Given the description of an element on the screen output the (x, y) to click on. 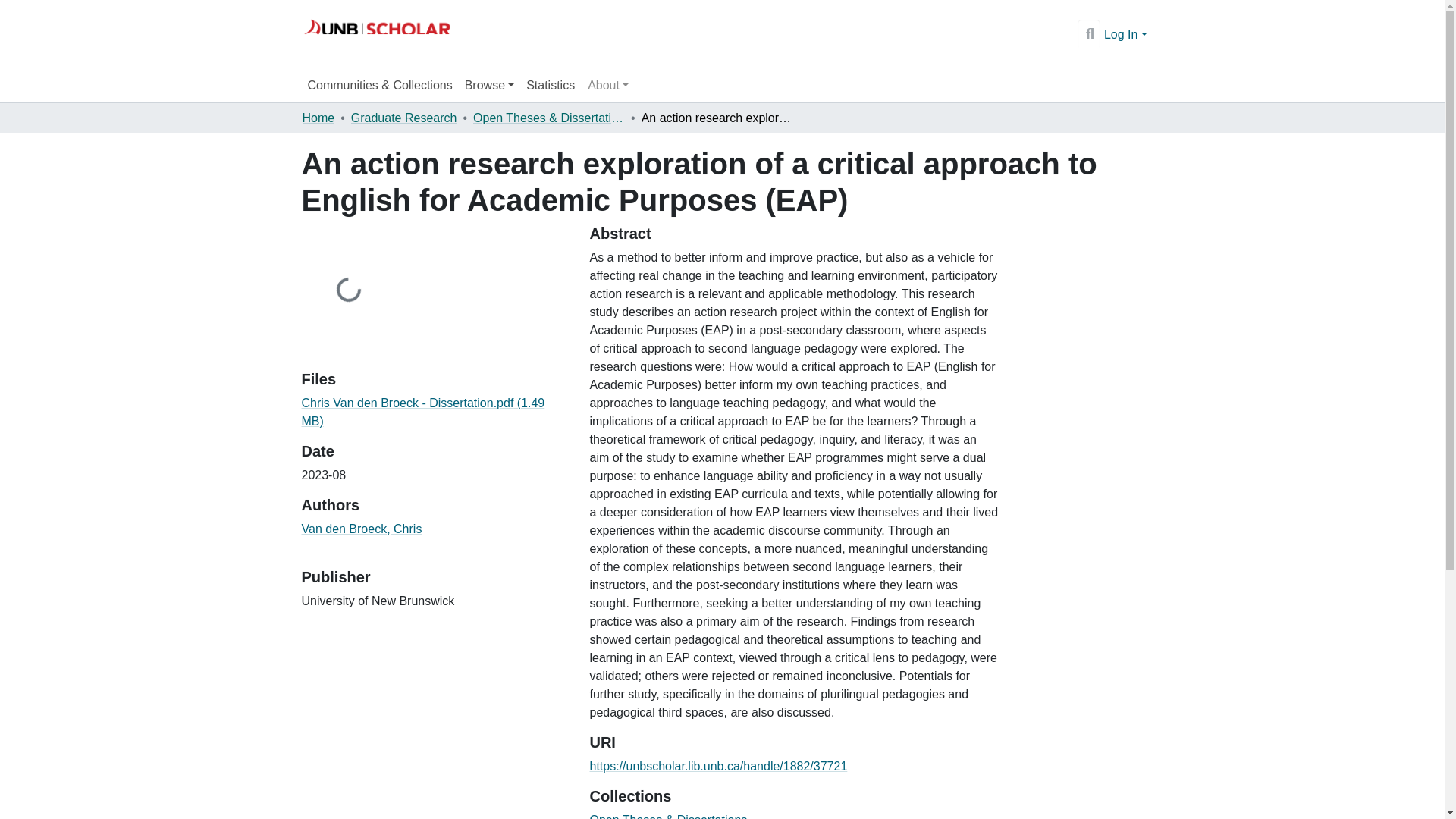
Graduate Research (403, 117)
Home (317, 117)
Browse (488, 85)
Van den Broeck, Chris (361, 528)
Search (1089, 34)
Statistics (549, 85)
Log In (1125, 33)
Statistics (549, 85)
About (607, 85)
